Given the description of an element on the screen output the (x, y) to click on. 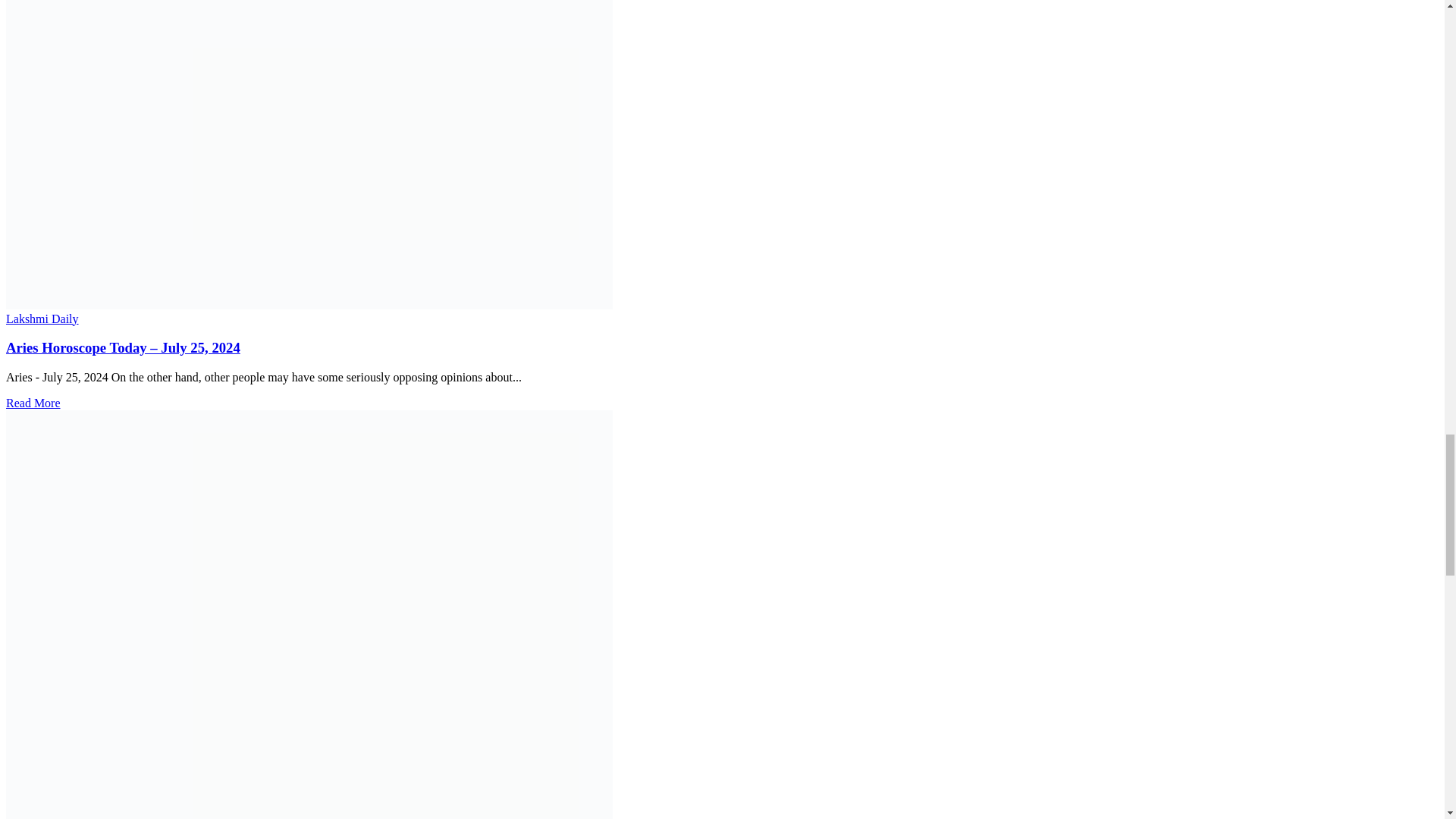
Lakshmi Daily (41, 318)
